Given the description of an element on the screen output the (x, y) to click on. 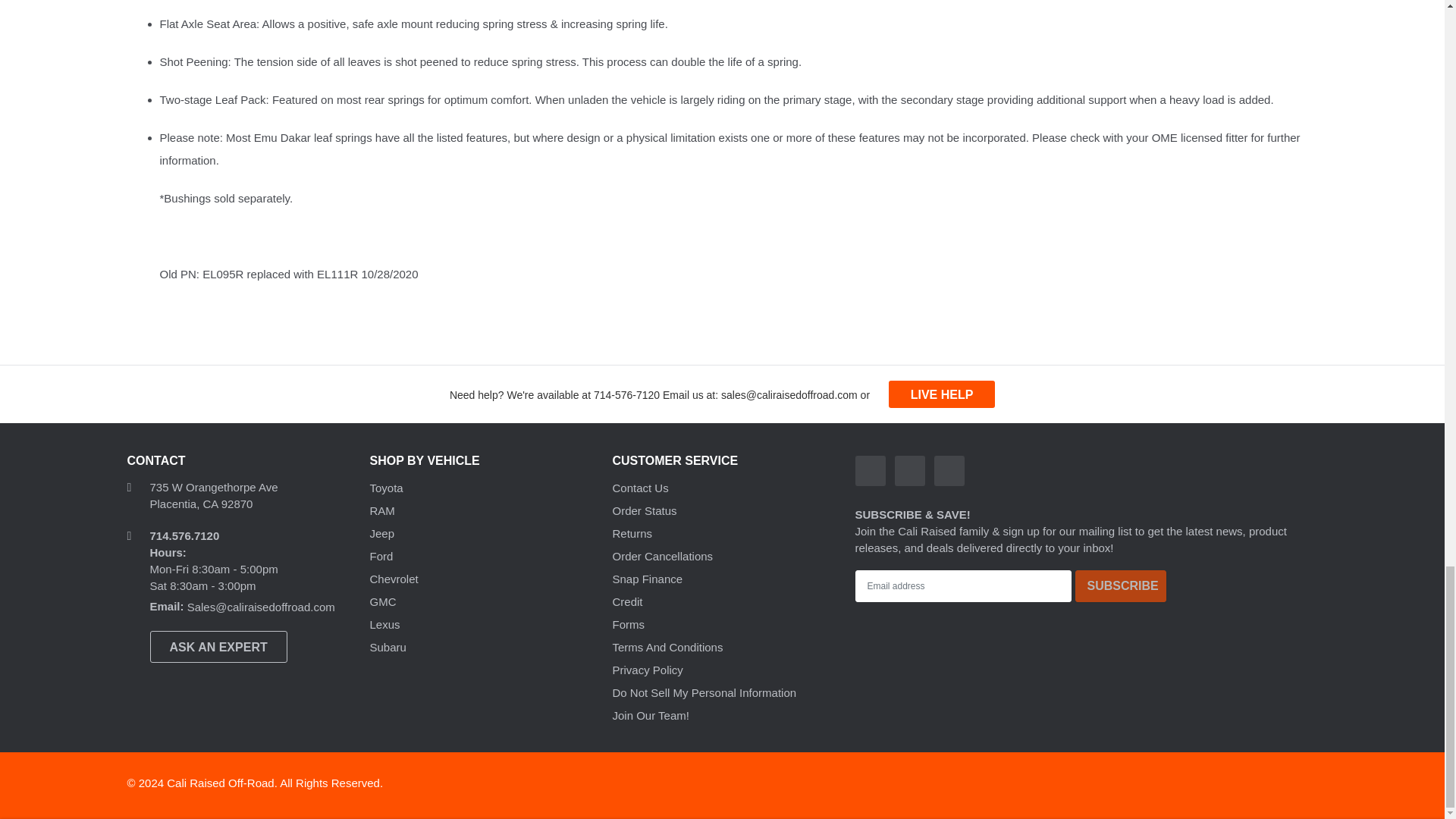
Contact Us (941, 393)
Instagram (909, 470)
Facebook (870, 470)
Subscribe (1120, 585)
YouTube (948, 470)
